Given the description of an element on the screen output the (x, y) to click on. 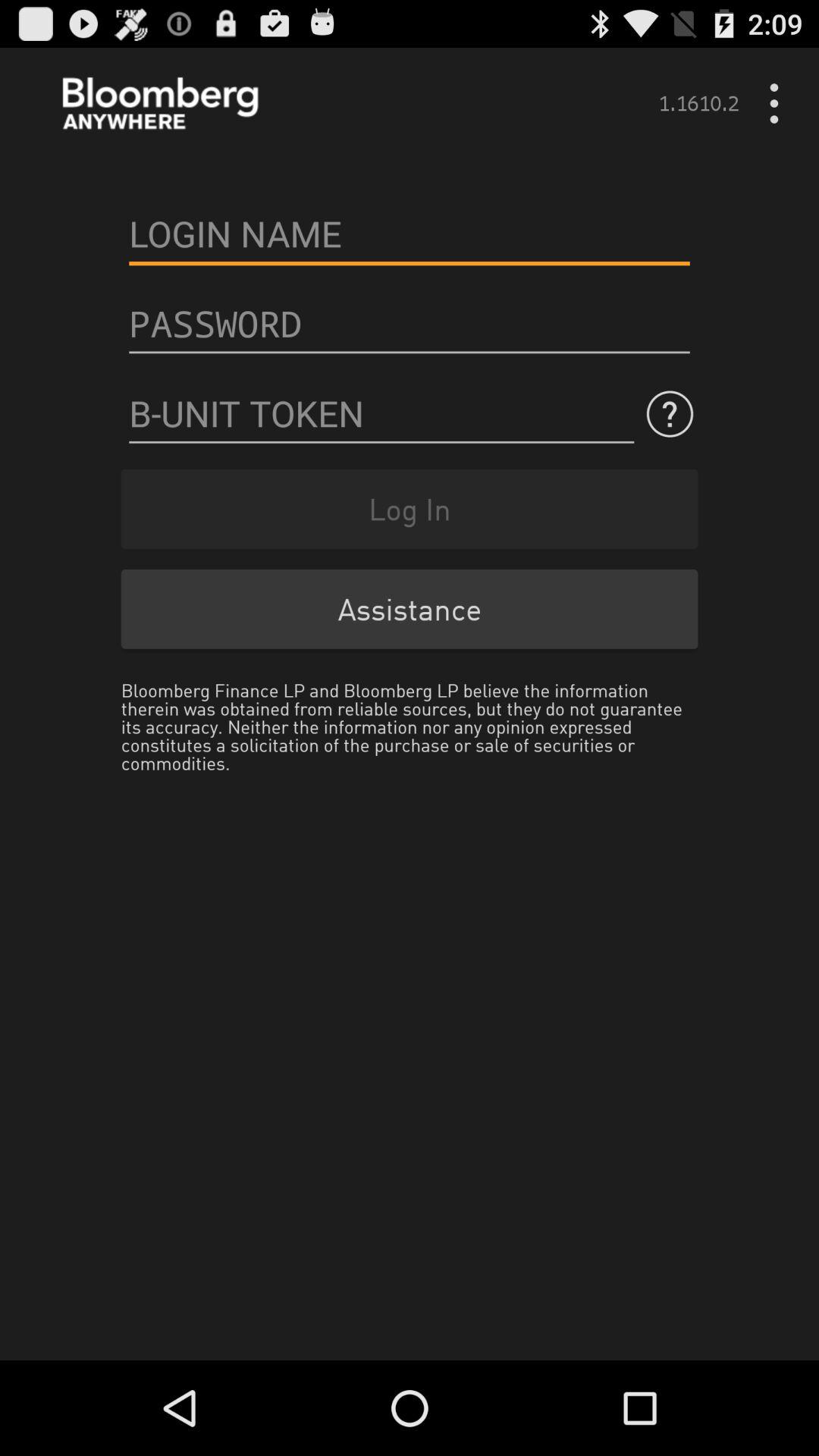
enter password (409, 324)
